Given the description of an element on the screen output the (x, y) to click on. 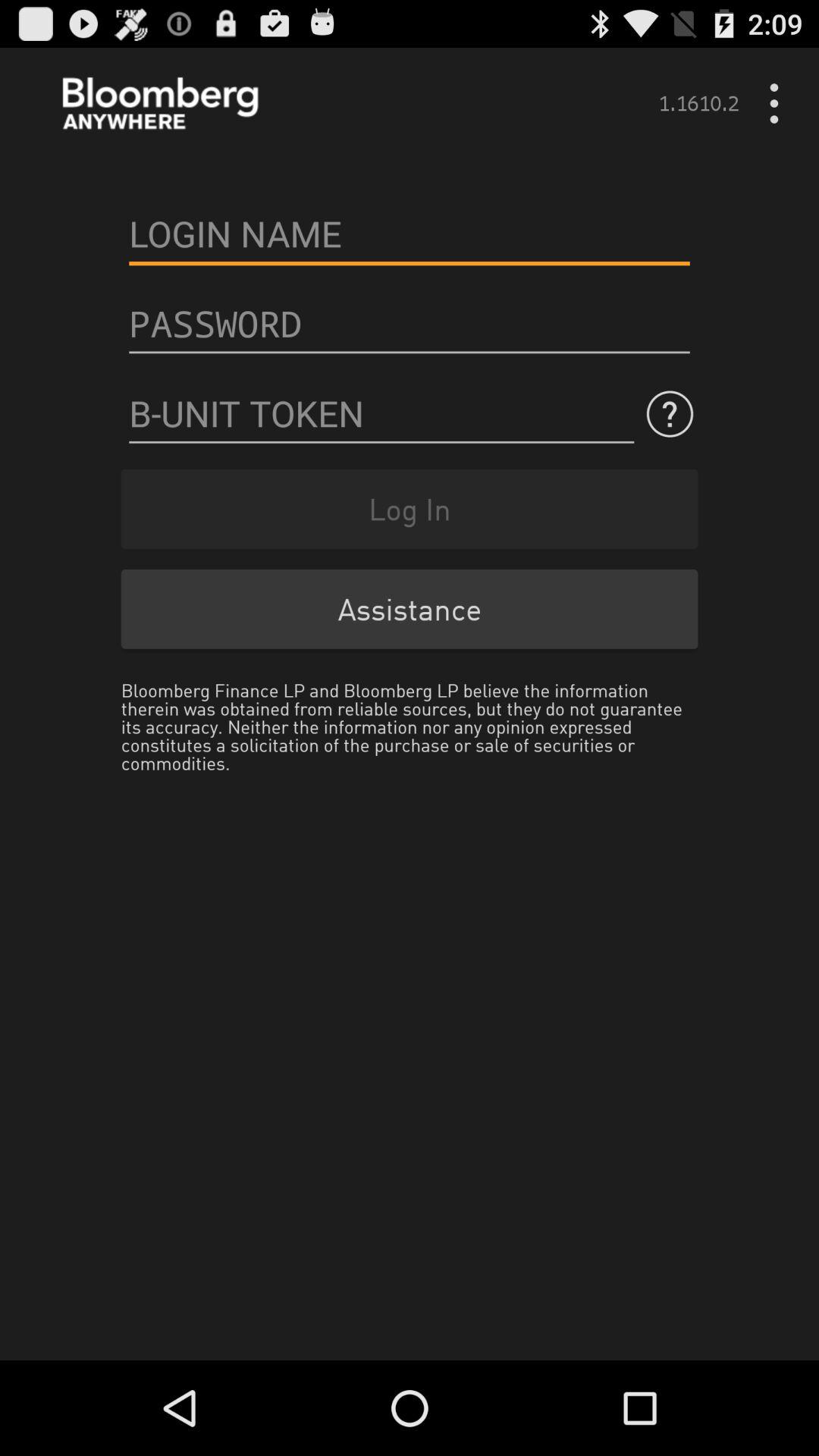
enter password (409, 324)
